Given the description of an element on the screen output the (x, y) to click on. 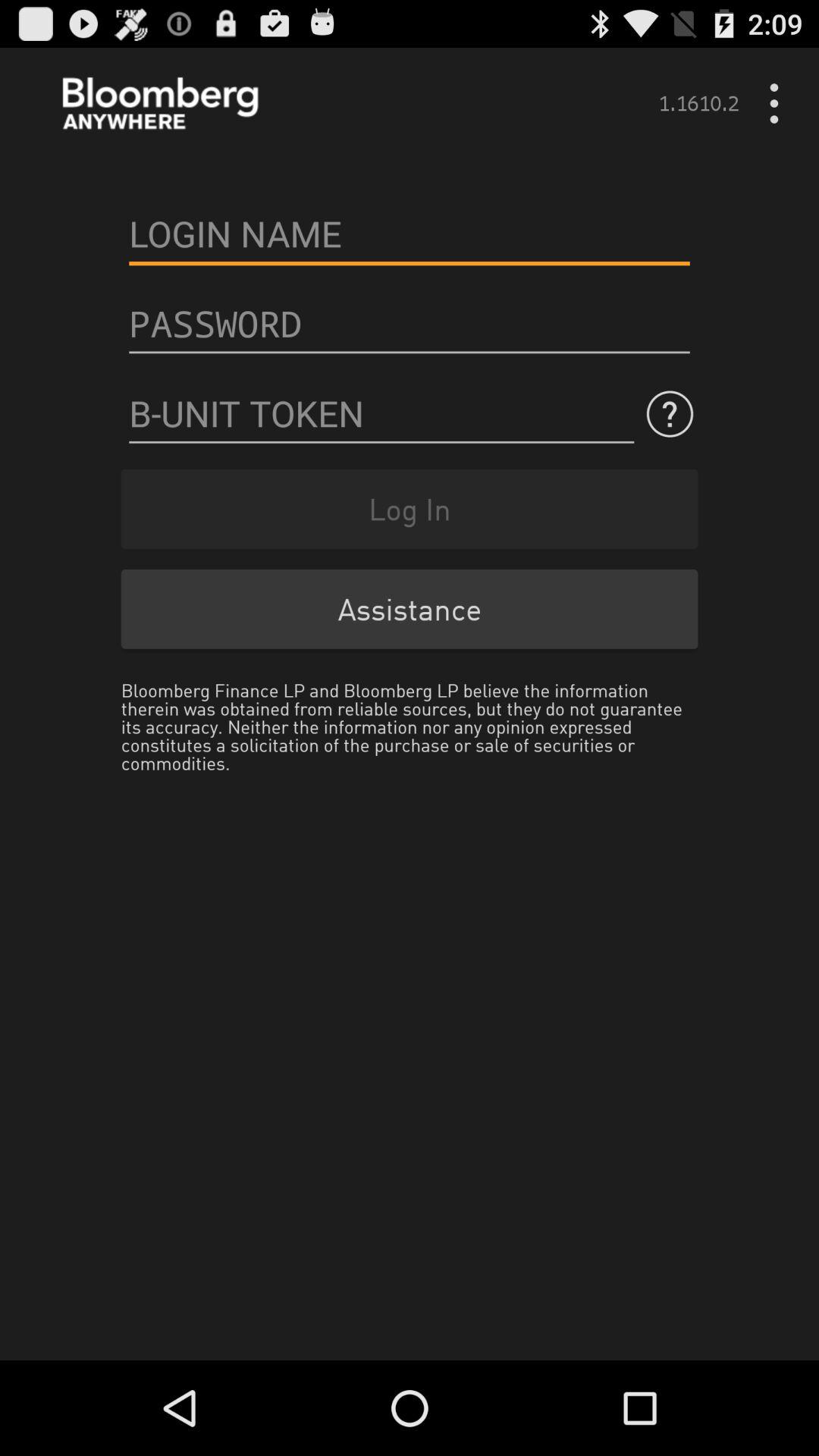
enter password (409, 324)
